Given the description of an element on the screen output the (x, y) to click on. 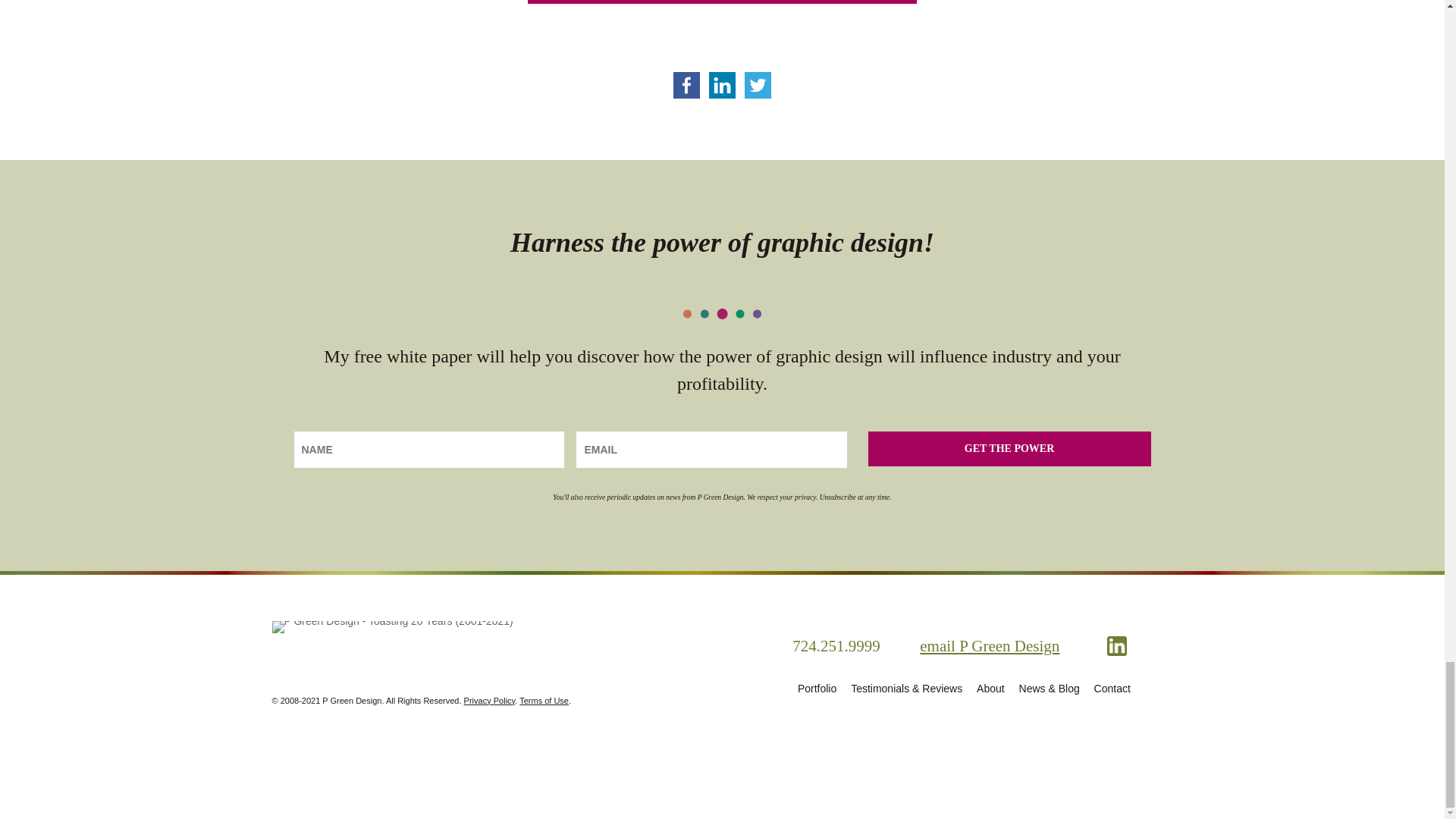
Twitter (757, 85)
Get The Power (1009, 448)
LinkedIn (721, 85)
Facebook (686, 85)
logo-footer (391, 626)
dot-border-2 (721, 313)
